Given the description of an element on the screen output the (x, y) to click on. 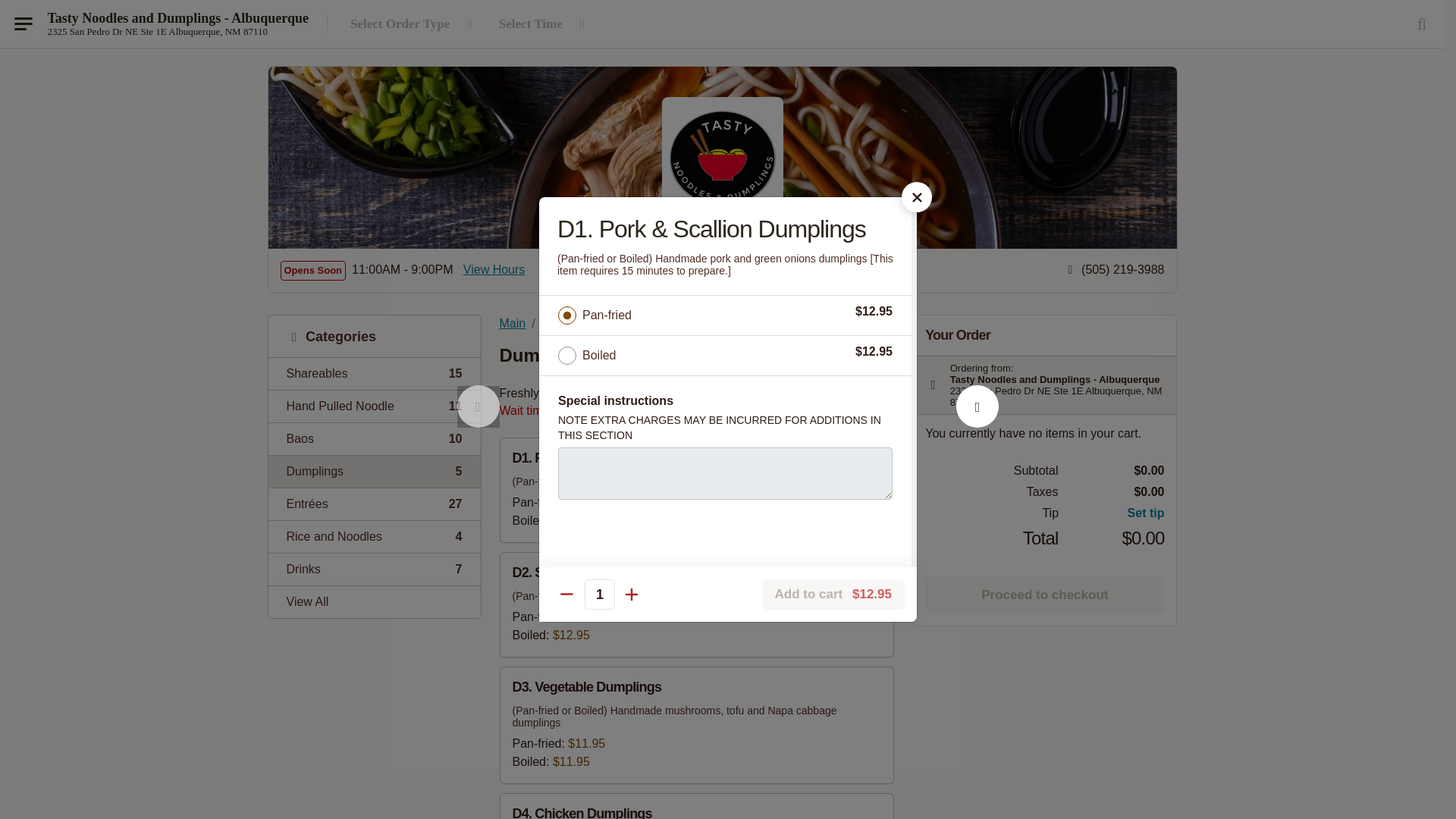
D3. Vegetable Dumplings (373, 536)
Select Order Type (373, 438)
Dumplings (373, 471)
Proceed to checkout (696, 724)
View All (373, 373)
2325 San Pedro Dr NE Ste 1E Albuquerque, NM 87110 (413, 23)
1 (696, 361)
Tasty Noodles and Dumplings - Albuquerque (1043, 595)
No previous items, this is the first item. (373, 405)
